Given the description of an element on the screen output the (x, y) to click on. 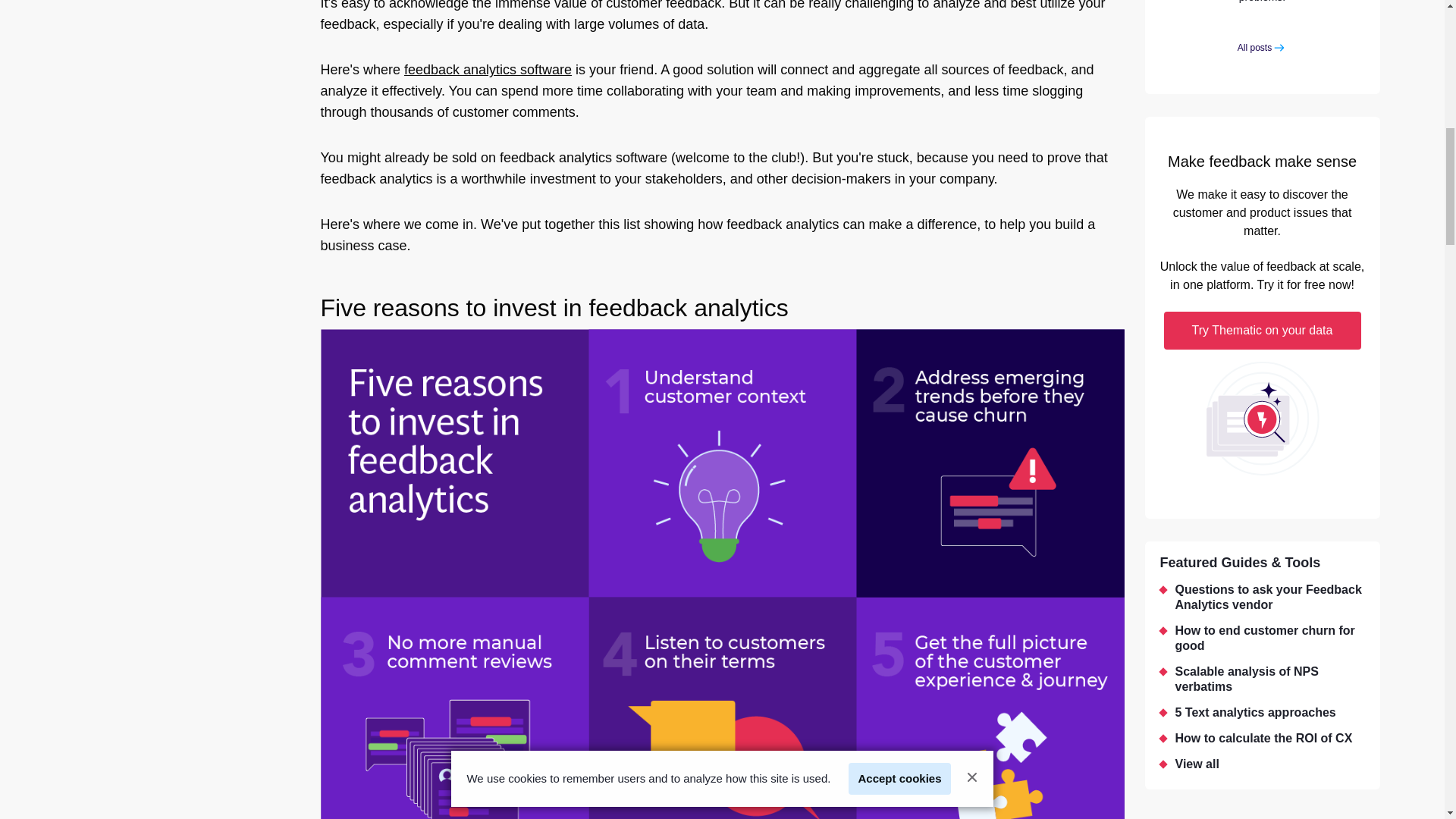
feedback analytics software (488, 69)
